Given the description of an element on the screen output the (x, y) to click on. 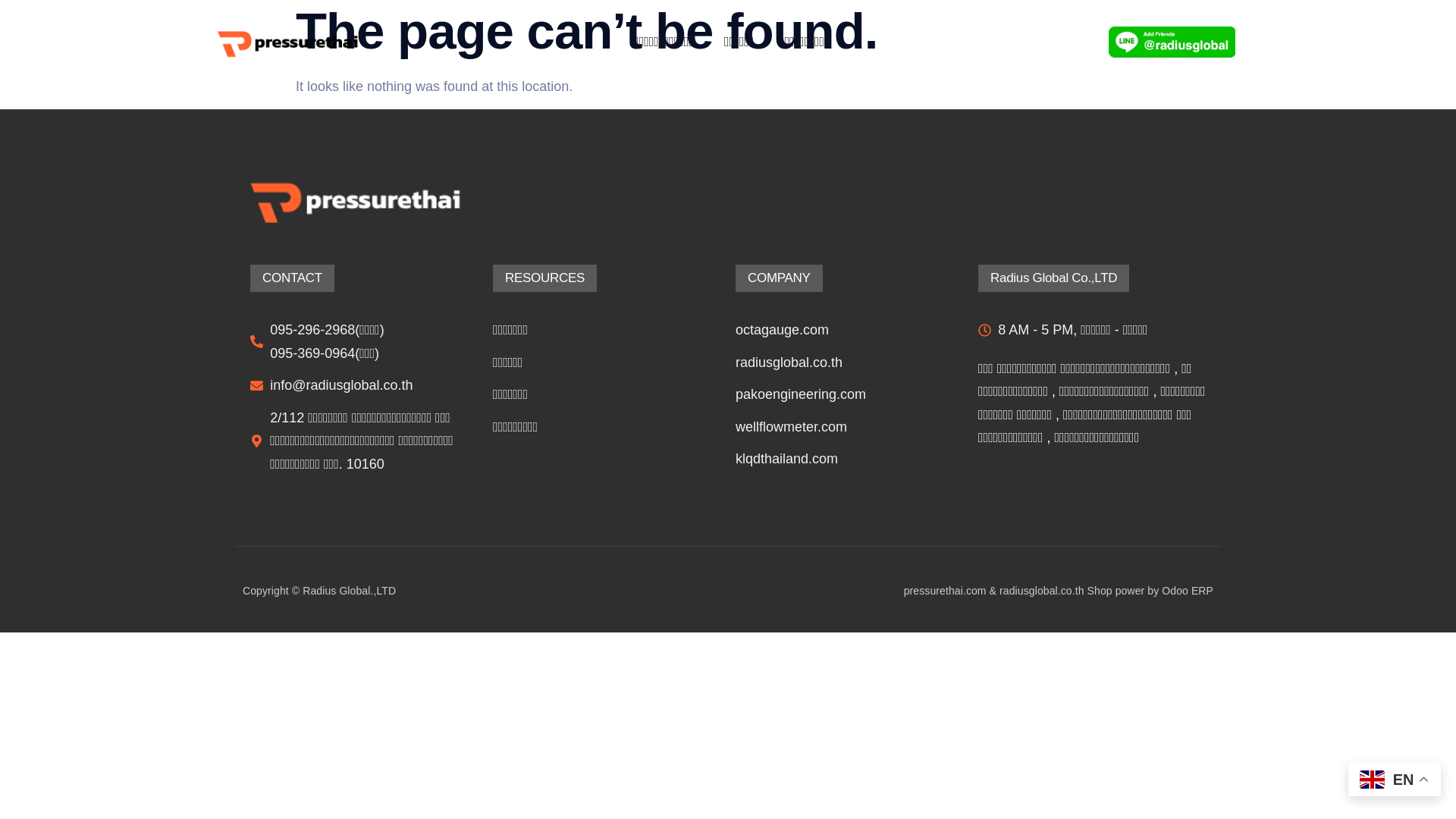
klqdthailand.com (841, 458)
wellflowmeter.com (841, 426)
pakoengineering.com (841, 394)
octagauge.com (841, 330)
radiusglobal.co.th (841, 362)
